Given the description of an element on the screen output the (x, y) to click on. 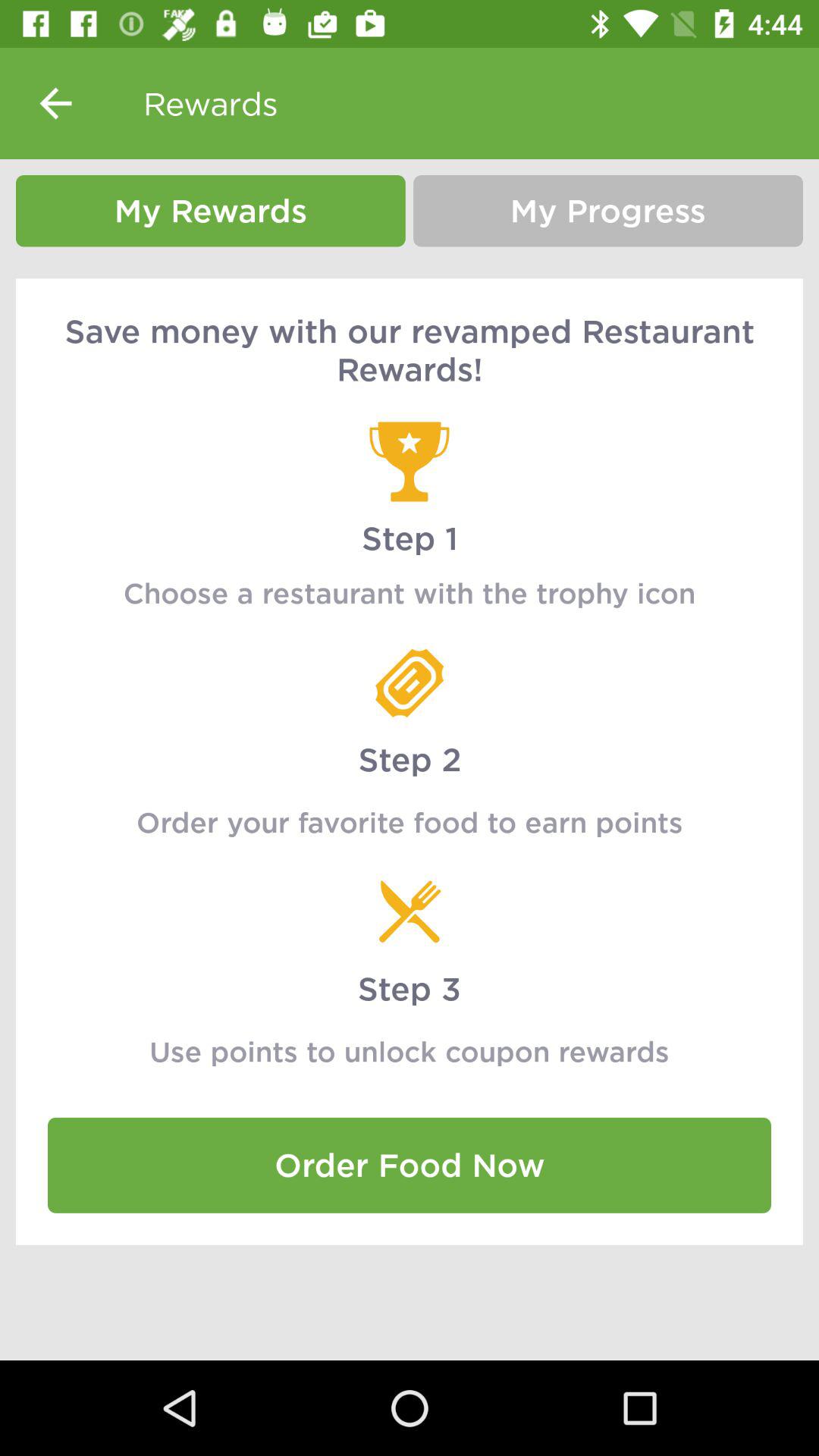
turn on the my rewards (210, 210)
